Given the description of an element on the screen output the (x, y) to click on. 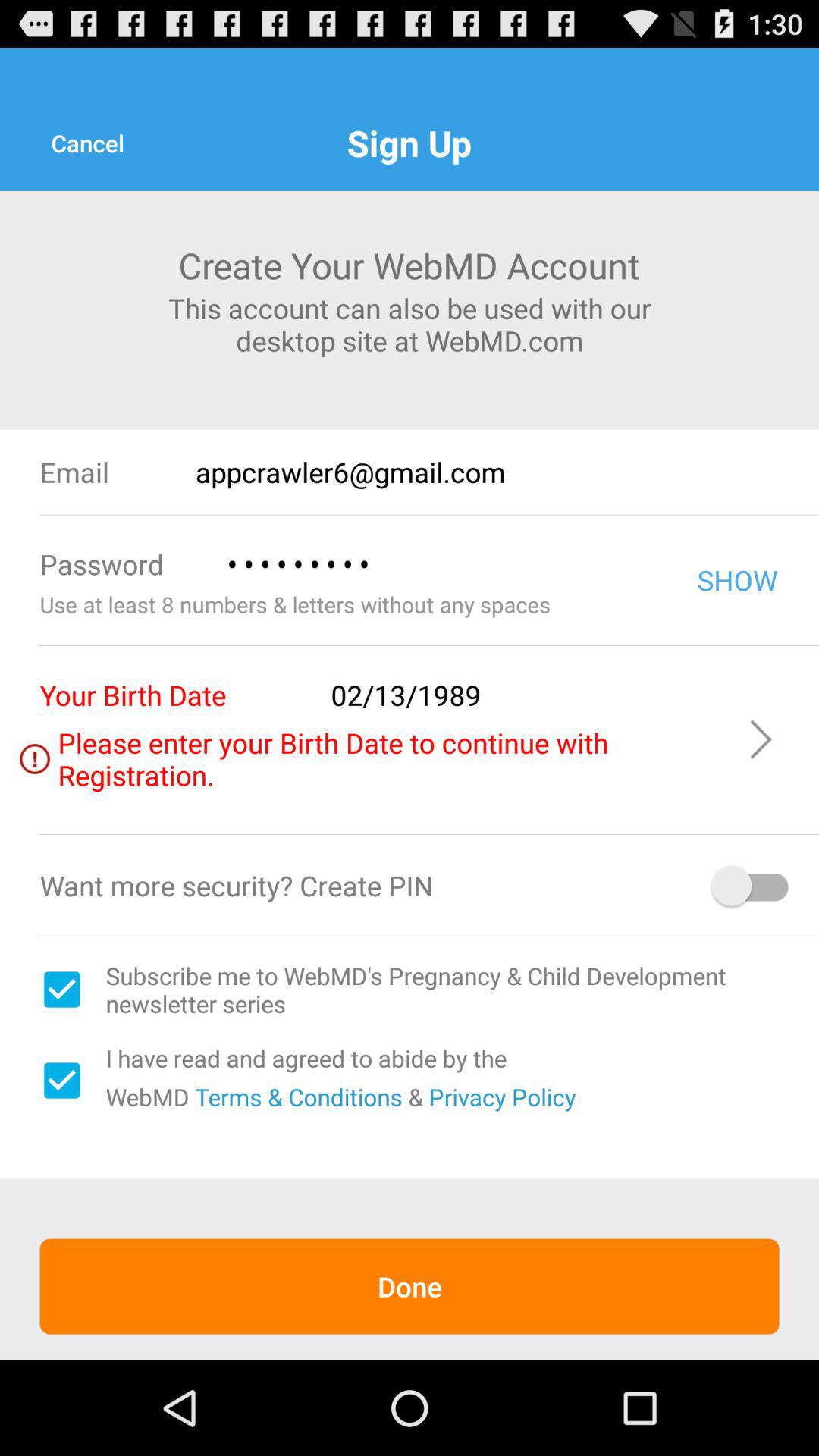
press item next to the your birth date icon (528, 694)
